Given the description of an element on the screen output the (x, y) to click on. 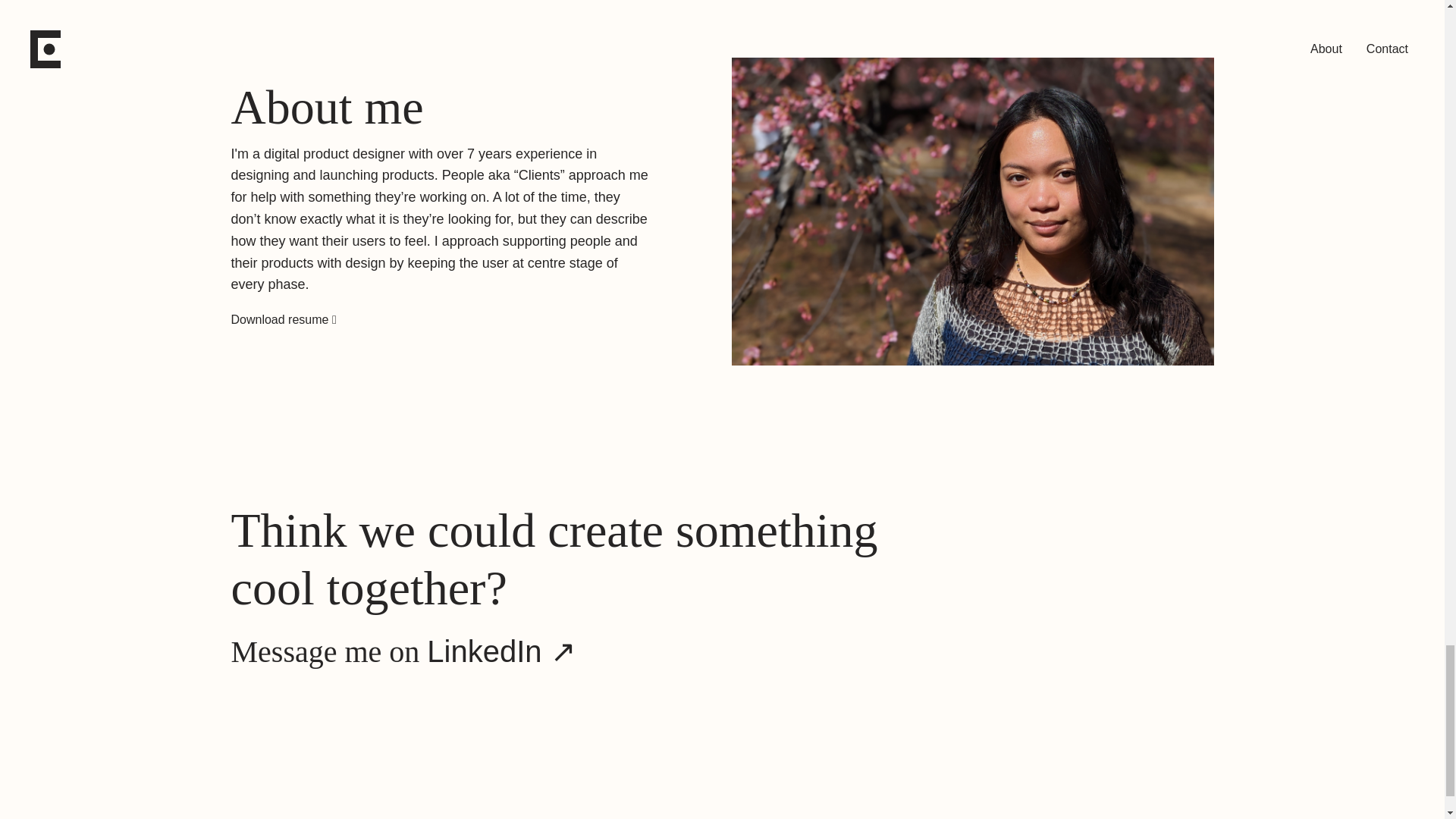
Download resume (280, 318)
